Given the description of an element on the screen output the (x, y) to click on. 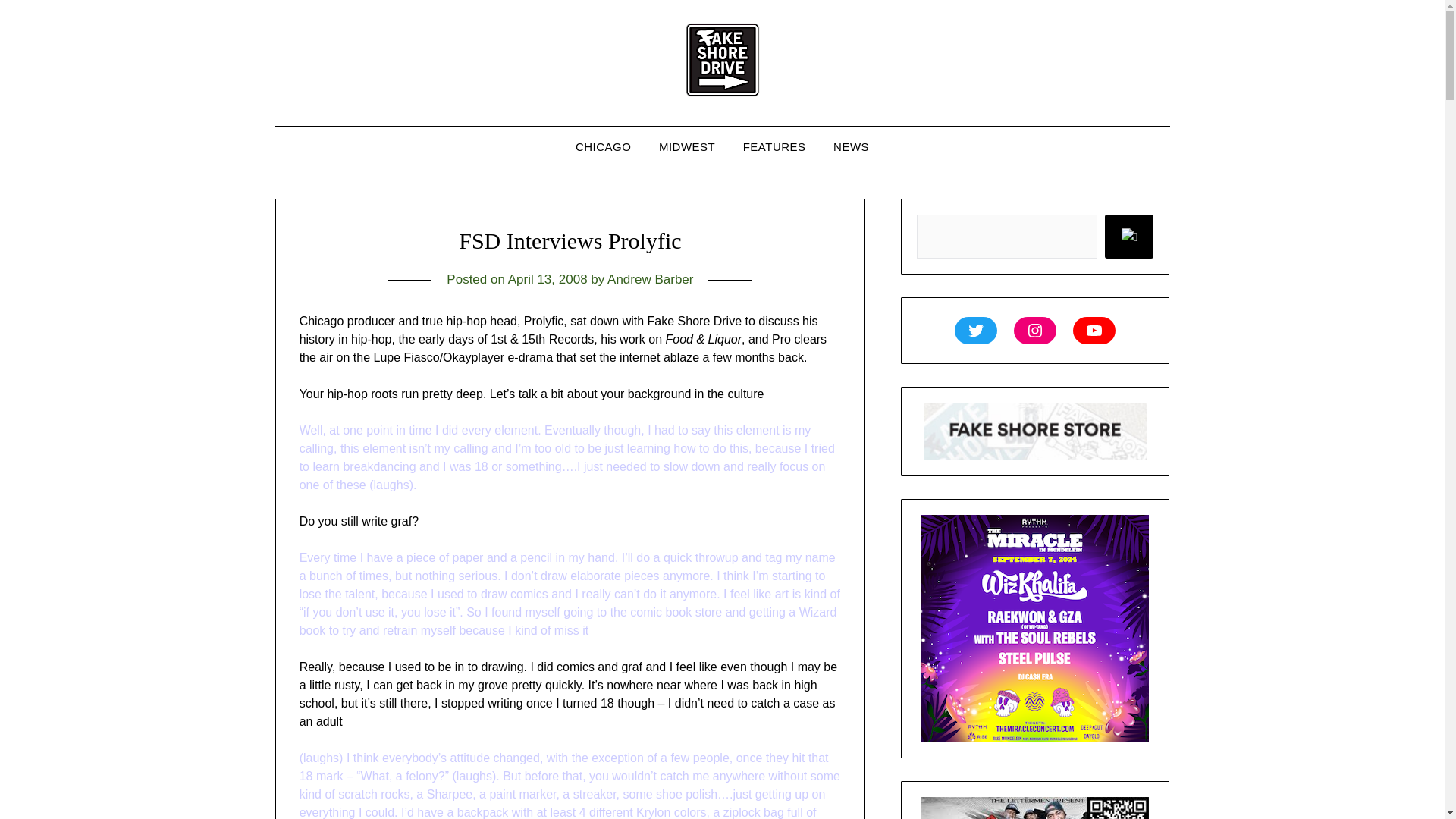
CHICAGO (603, 146)
April 13, 2008 (548, 278)
MIDWEST (686, 146)
NEWS (850, 146)
Andrew Barber (650, 278)
FEATURES (774, 146)
